Given the description of an element on the screen output the (x, y) to click on. 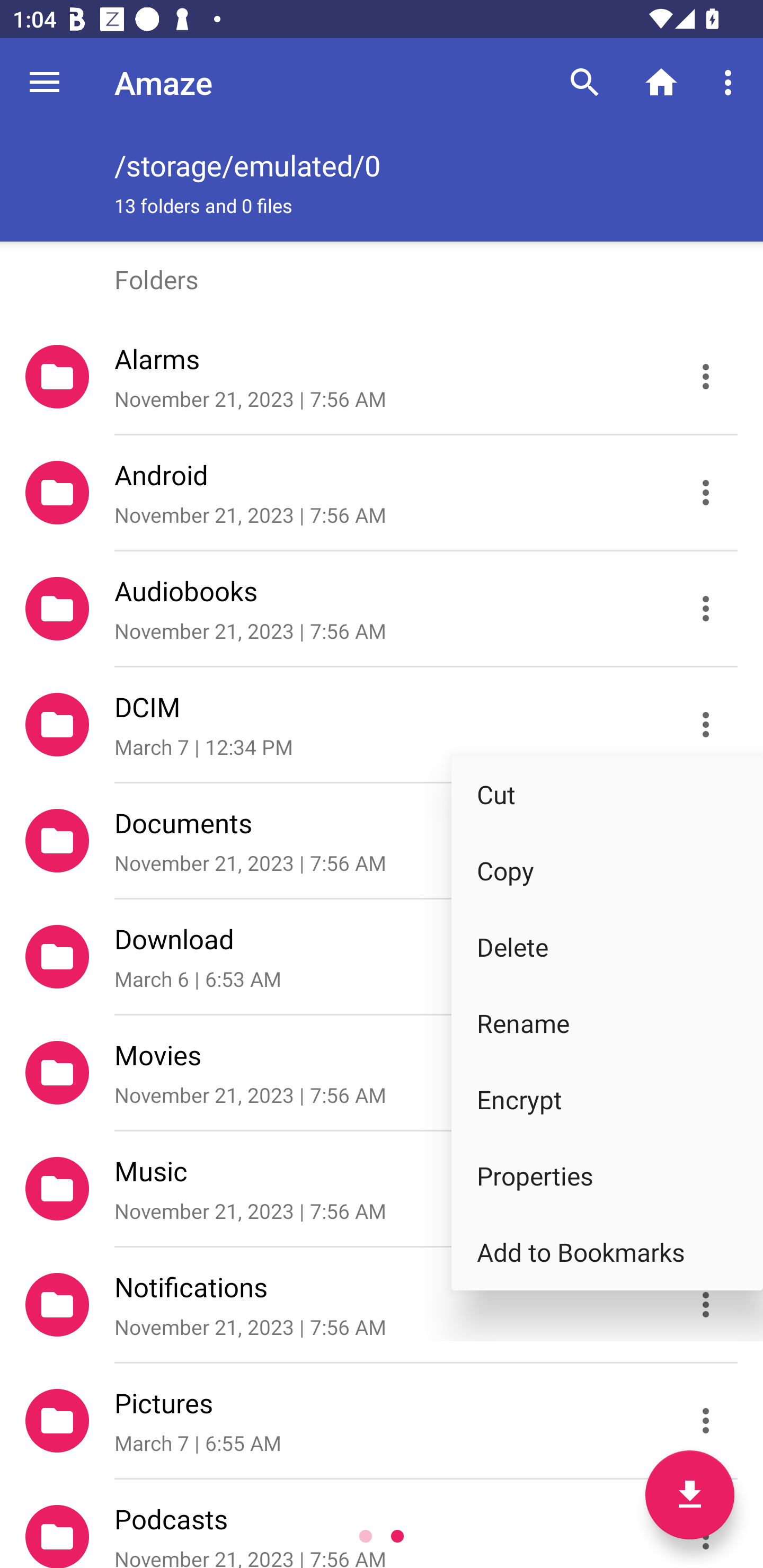
Cut (607, 793)
Copy (607, 870)
Delete (607, 946)
Rename (607, 1022)
Encrypt (607, 1099)
Properties (607, 1175)
Add to Bookmarks (607, 1251)
